Given the description of an element on the screen output the (x, y) to click on. 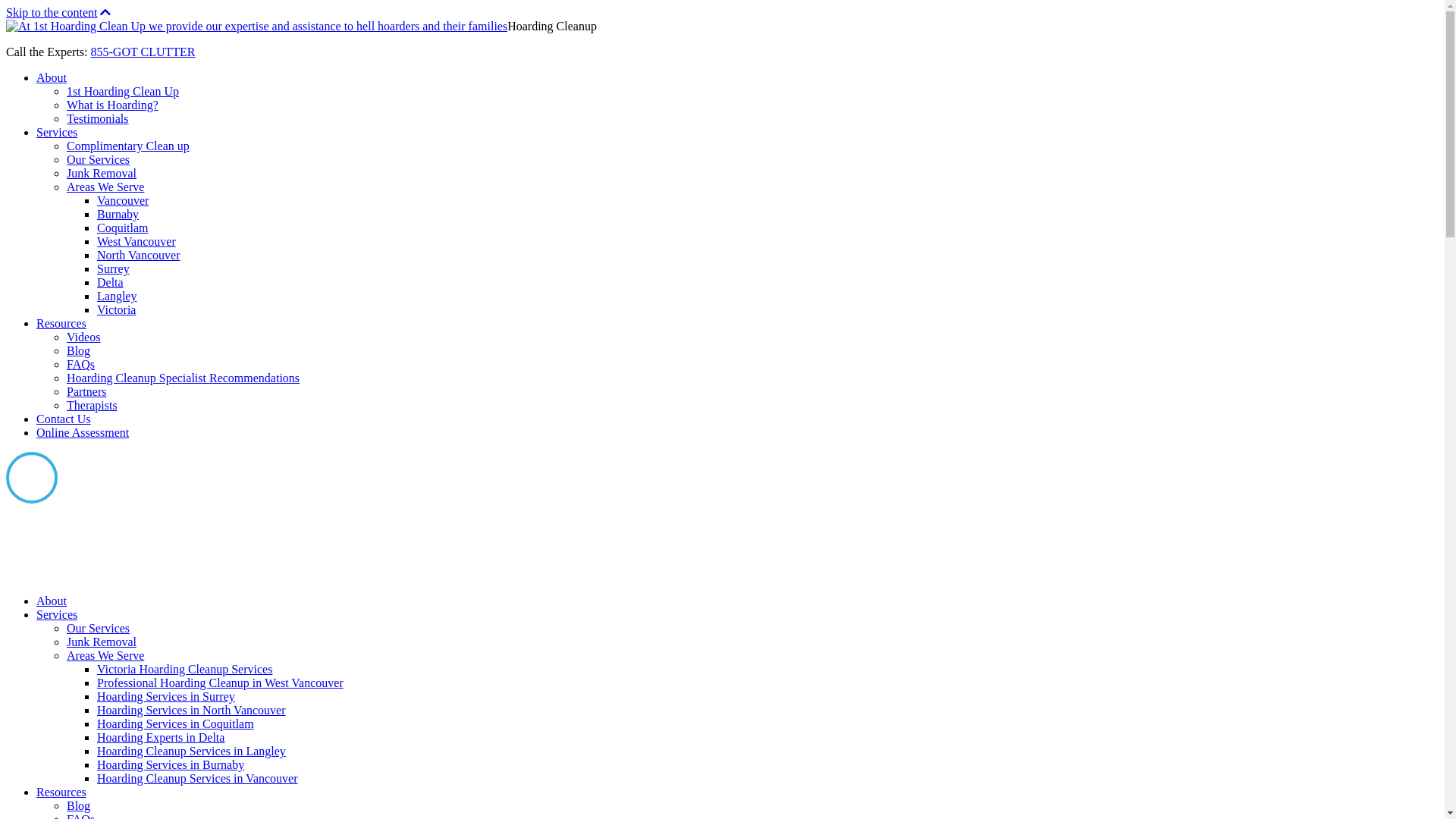
Areas We Serve Element type: text (105, 186)
Blog Element type: text (78, 805)
Contact Us Element type: text (63, 418)
Therapists Element type: text (91, 404)
What is Hoarding? Element type: text (112, 104)
FAQs Element type: text (80, 363)
Skip to the content Element type: text (51, 12)
1st Hoarding Clean Up Element type: text (122, 90)
Complimentary Clean up Element type: text (127, 145)
Hoarding Cleanup Services in Vancouver Element type: text (197, 777)
West Vancouver Element type: text (136, 241)
Services Element type: text (56, 131)
Junk Removal Element type: text (101, 172)
Hoarding Cleanup Services in Langley Element type: text (191, 750)
Resources Element type: text (61, 791)
Surrey Element type: text (113, 268)
Partners Element type: text (86, 391)
Blog Element type: text (78, 350)
855-GOT CLUTTER Element type: text (143, 51)
Victoria Hoarding Cleanup Services Element type: text (184, 668)
Victoria Element type: text (116, 309)
Our Services Element type: text (97, 627)
Hoarding Services in Burnaby Element type: text (170, 764)
Hoarding Services in Surrey Element type: text (166, 696)
Professional Hoarding Cleanup in West Vancouver Element type: text (220, 682)
Coquitlam Element type: text (122, 227)
Burnaby Element type: text (117, 213)
Delta Element type: text (110, 282)
Hoarding Services in North Vancouver Element type: text (191, 709)
North Vancouver Element type: text (138, 254)
Hoarding Experts in Delta Element type: text (160, 737)
Our Services Element type: text (97, 159)
Online Assessment Element type: text (82, 432)
Hoarding Services in Coquitlam Element type: text (175, 723)
Testimonials Element type: text (97, 118)
Vancouver Element type: text (122, 200)
Areas We Serve Element type: text (105, 655)
Langley Element type: text (116, 295)
About Element type: text (51, 600)
Videos Element type: text (83, 336)
About Element type: text (51, 77)
Hoarding Cleanup Specialist Recommendations Element type: text (182, 377)
Junk Removal Element type: text (101, 641)
Services Element type: text (56, 614)
Resources Element type: text (61, 322)
